Given the description of an element on the screen output the (x, y) to click on. 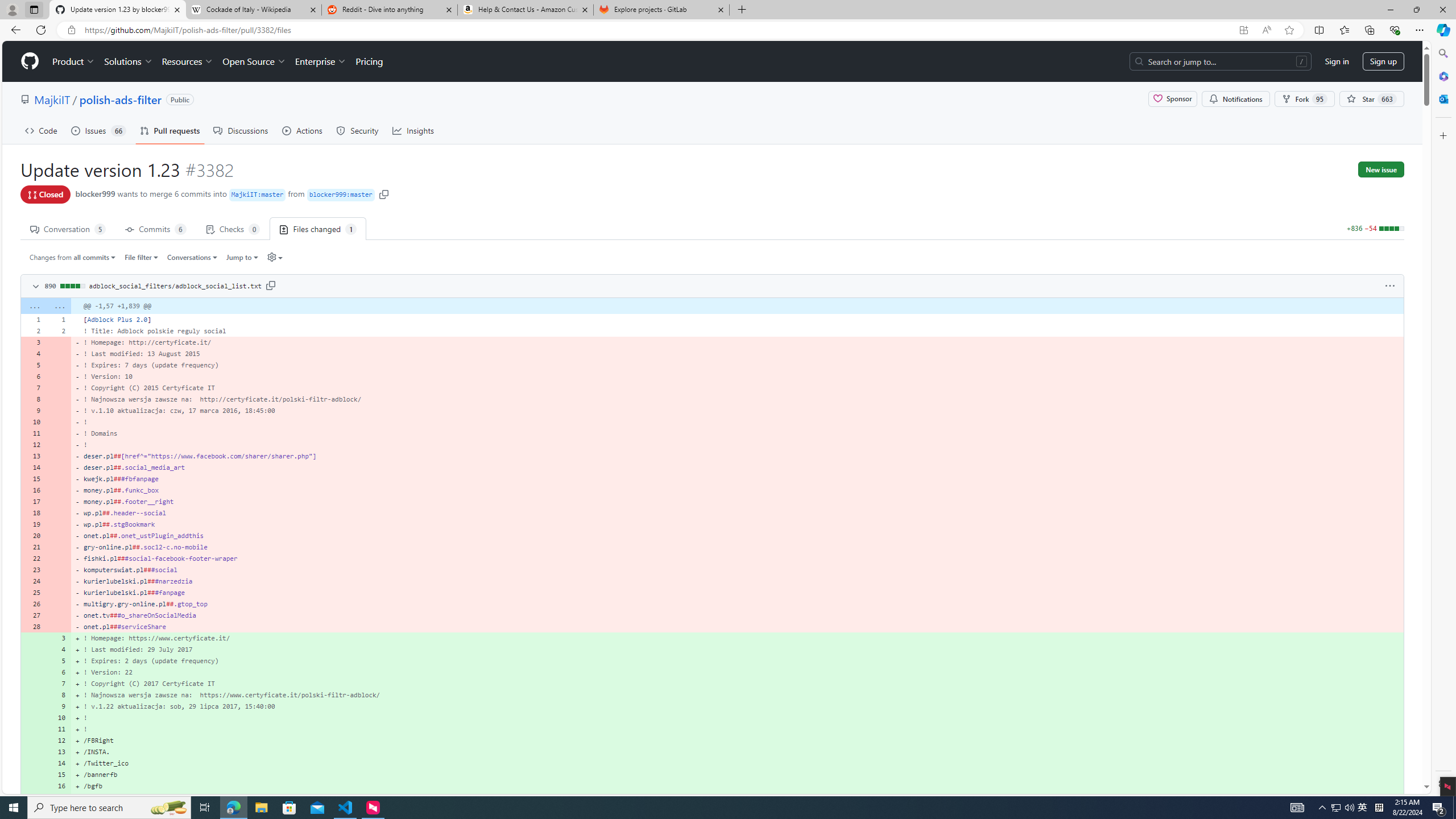
14 (58, 763)
- komputerswiat.pl###social (737, 569)
Code (41, 130)
Enterprise (319, 60)
- wp.pl##.stgBookmark (737, 523)
11 (58, 728)
Sponsor MajkiIT/polish-ads-filter (1171, 98)
 Checks 0 (232, 228)
Diff settings (271, 256)
- money.pl##.footer__right (737, 501)
12 (58, 740)
Class: show-top-border (711, 797)
